Given the description of an element on the screen output the (x, y) to click on. 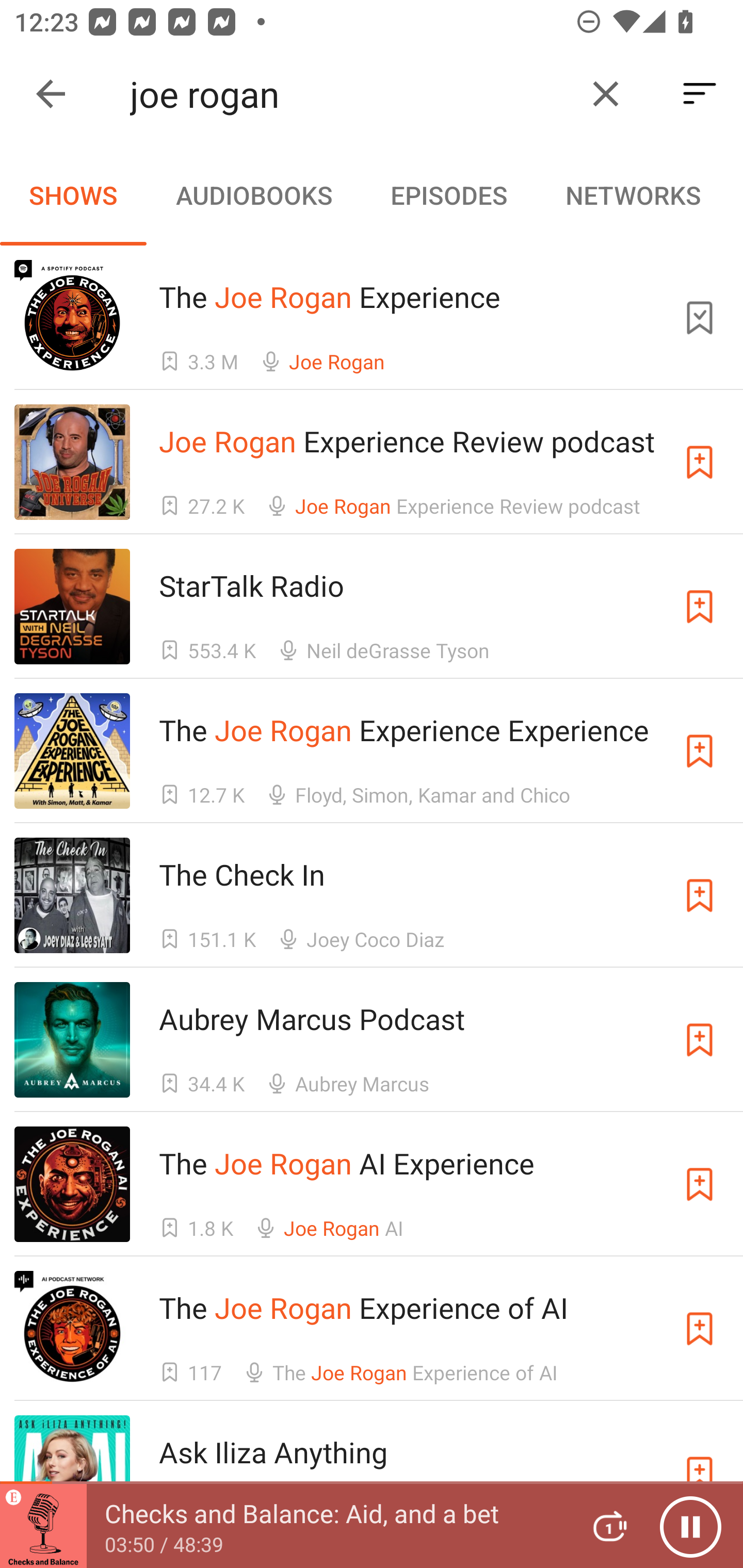
Collapse (50, 93)
Clear query (605, 93)
Sort By (699, 93)
joe rogan (349, 94)
SHOWS (73, 195)
AUDIOBOOKS (253, 195)
EPISODES (448, 195)
NETWORKS (632, 195)
AUDIO (736, 195)
Unsubscribe (699, 317)
Subscribe (699, 462)
Subscribe (699, 606)
Subscribe (699, 751)
Subscribe (699, 895)
Subscribe (699, 1039)
Subscribe (699, 1183)
Subscribe (699, 1328)
Checks and Balance: Aid, and a bet 03:50 / 48:39 (283, 1525)
Pause (690, 1526)
